Given the description of an element on the screen output the (x, y) to click on. 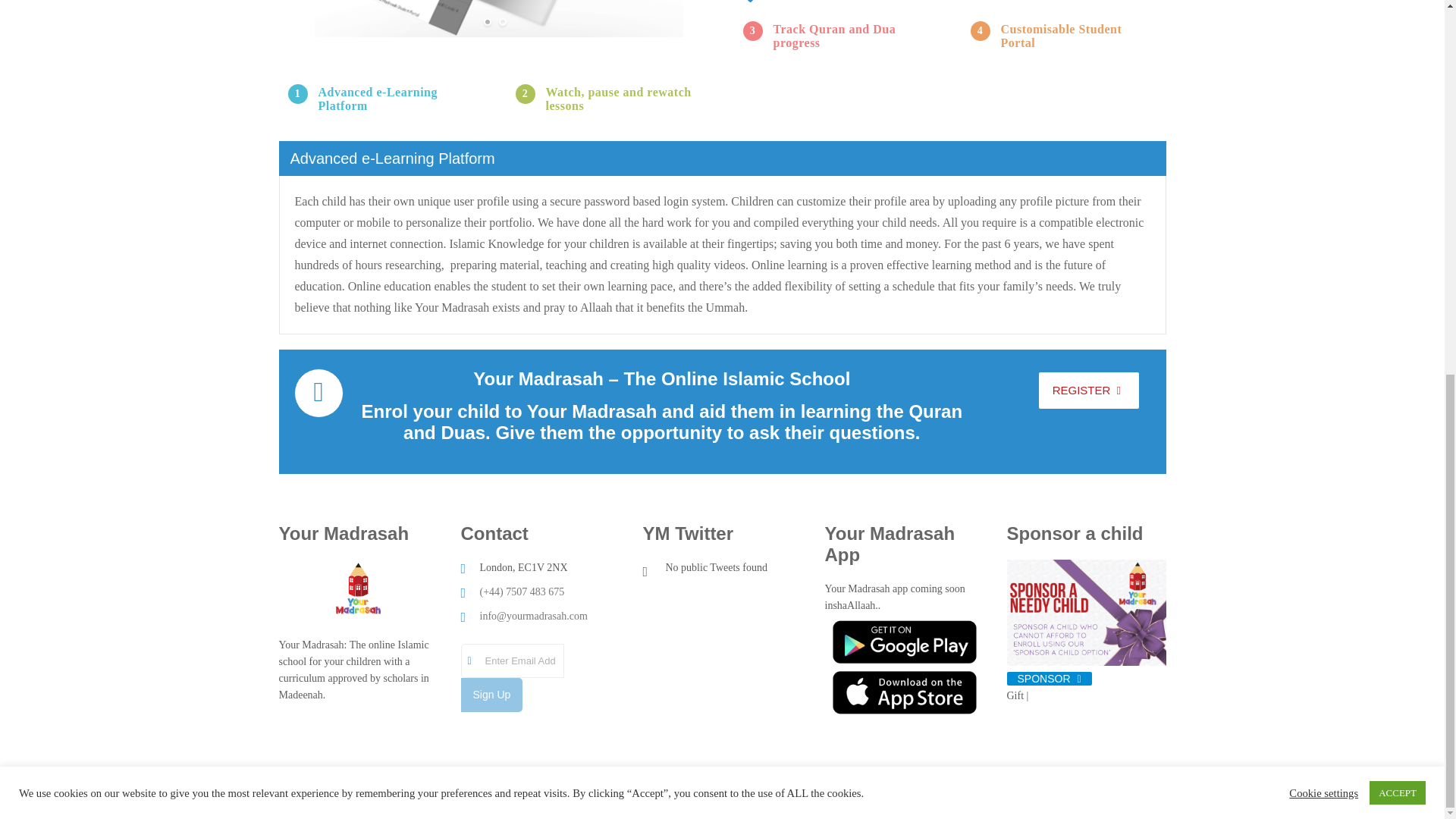
Sign up (491, 694)
